Given the description of an element on the screen output the (x, y) to click on. 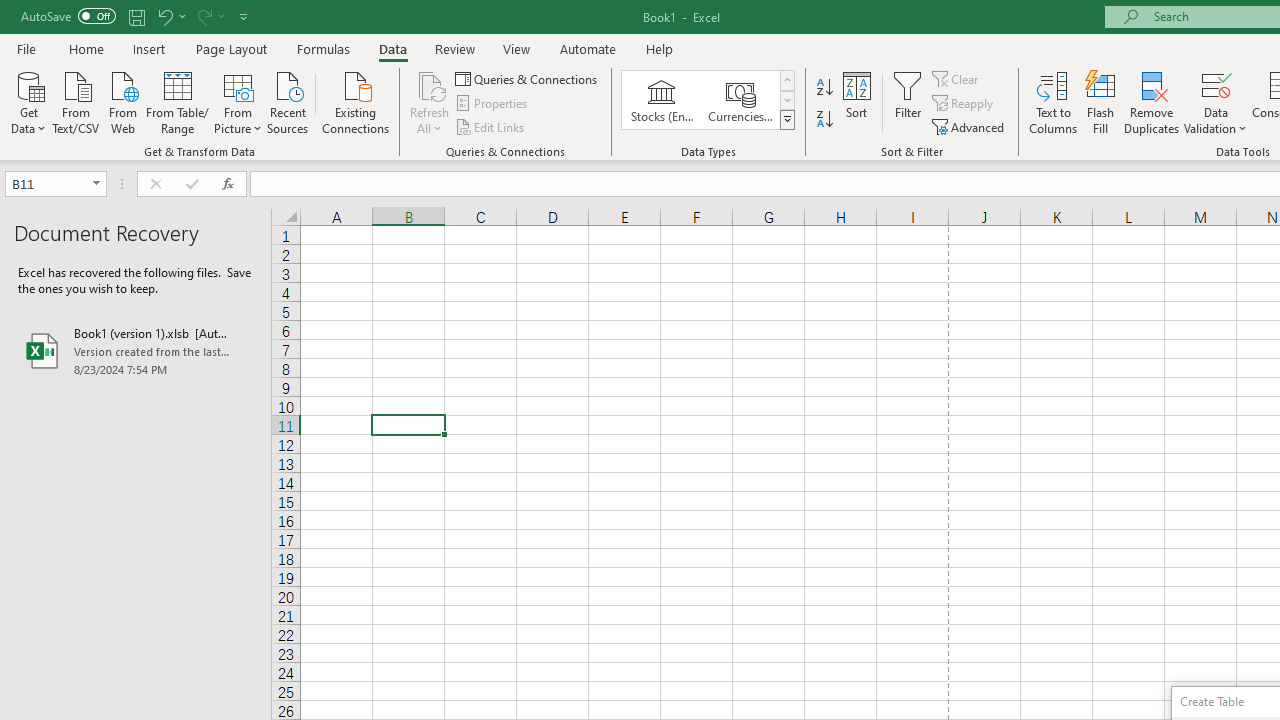
Data Types (786, 120)
AutomationID: ConvertToLinkedEntity (708, 99)
Filter (908, 102)
Remove Duplicates (1151, 102)
